Given the description of an element on the screen output the (x, y) to click on. 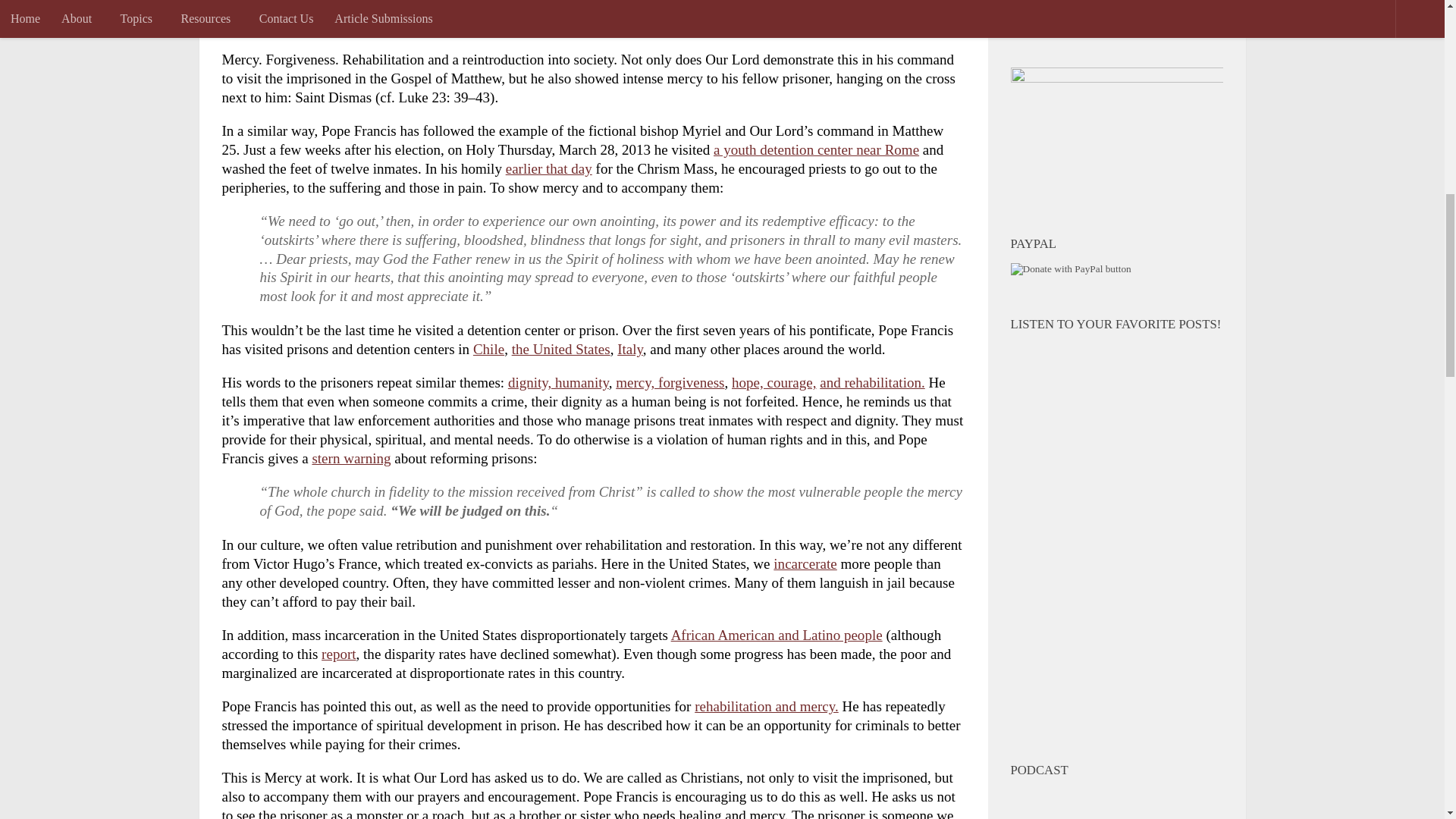
a youth detention center near Rome (815, 149)
earlier that day (548, 168)
the United States (561, 349)
Chile (488, 349)
Italy (630, 349)
